Given the description of an element on the screen output the (x, y) to click on. 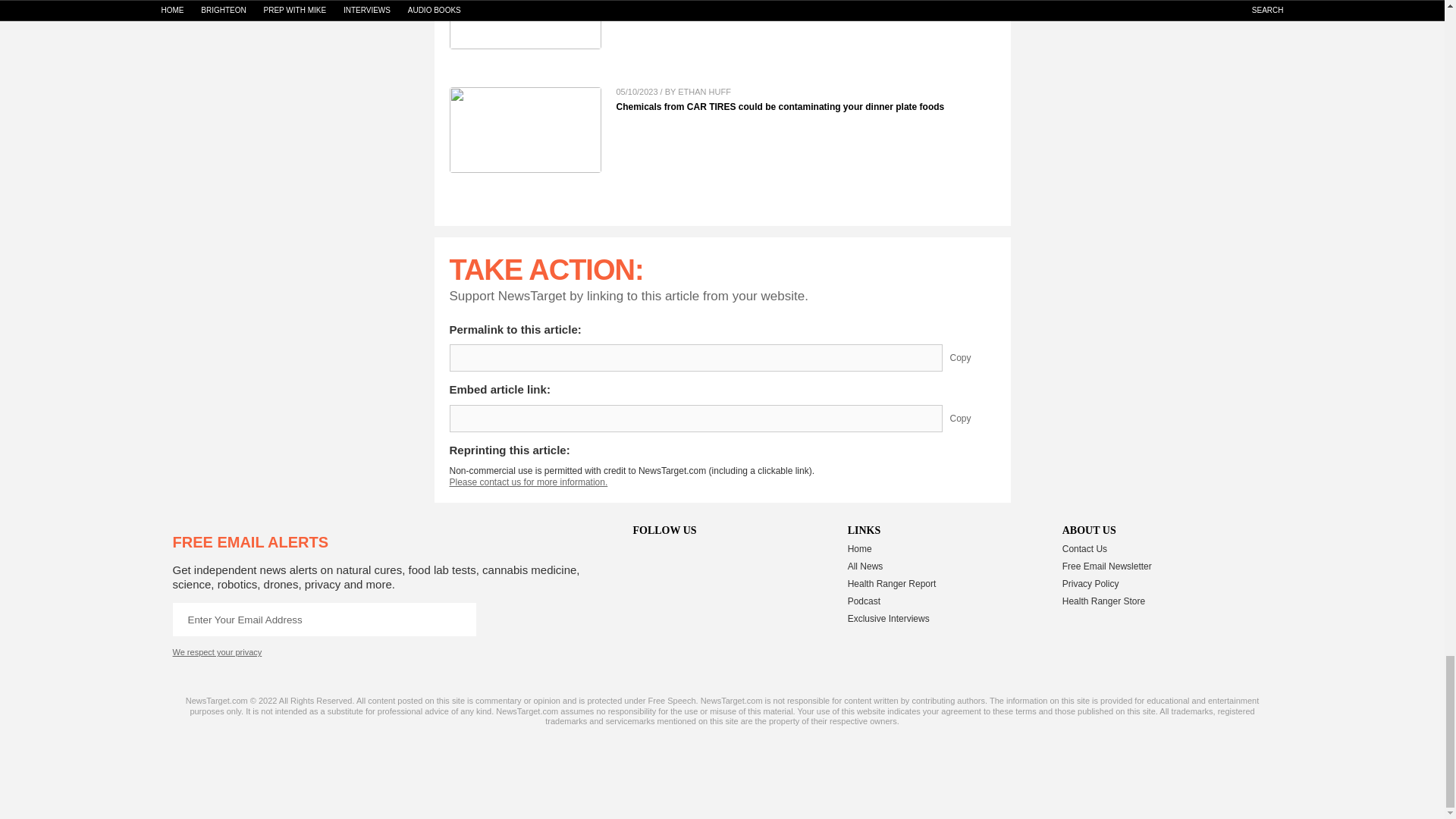
Continue (459, 619)
Copy Embed Link (971, 418)
Copy Permalink (971, 357)
